Given the description of an element on the screen output the (x, y) to click on. 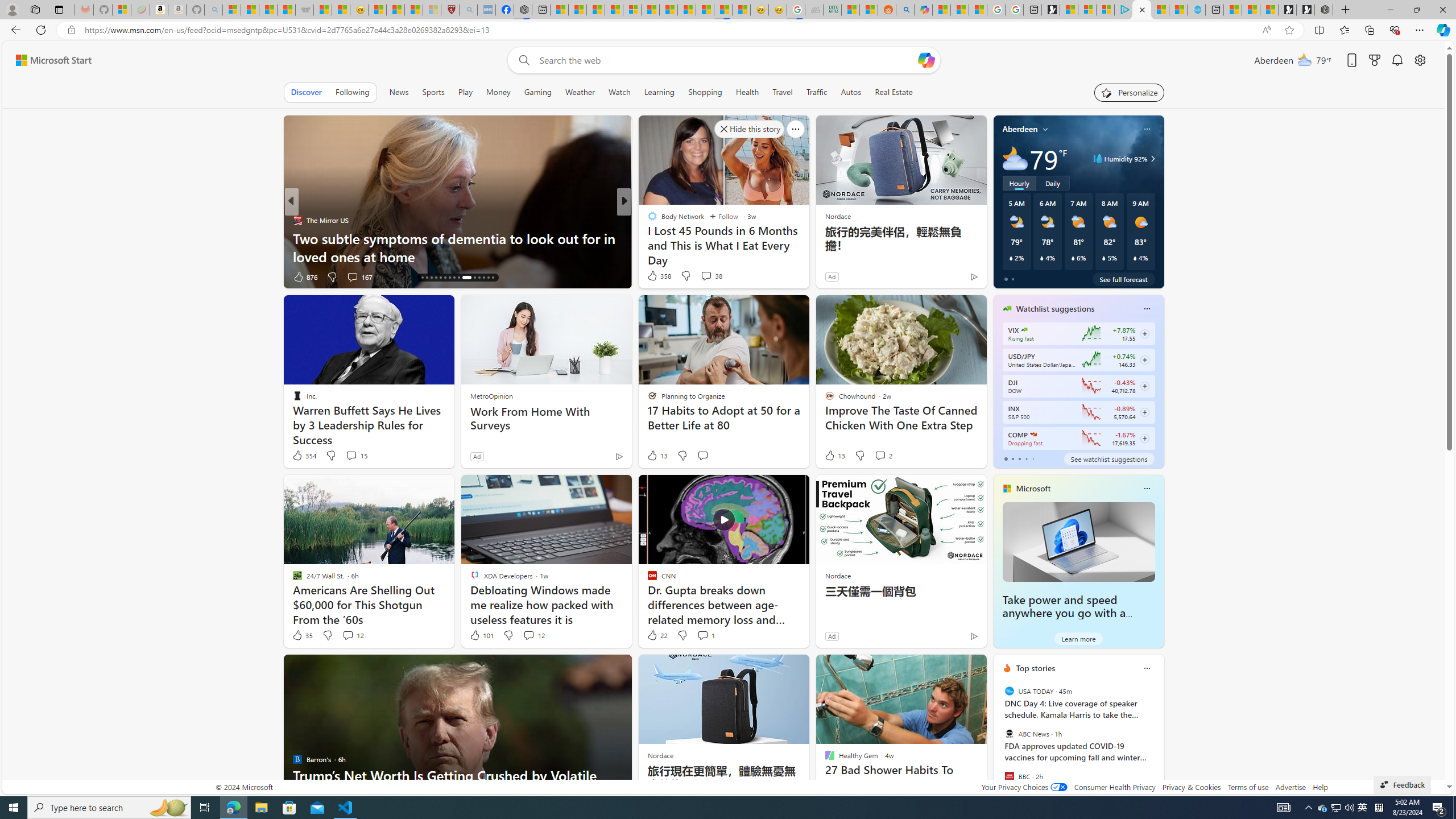
Skip to content (49, 59)
Minimize (1390, 9)
Open Copilot (925, 59)
tab-1 (1012, 458)
Gaming (537, 92)
tab-0 (1005, 458)
View site information (70, 29)
View comments 167 Comment (6, 276)
Address and search bar (669, 29)
Robert H. Shmerling, MD - Harvard Health (450, 9)
Dislike (682, 634)
Hourly (1018, 183)
